Given the description of an element on the screen output the (x, y) to click on. 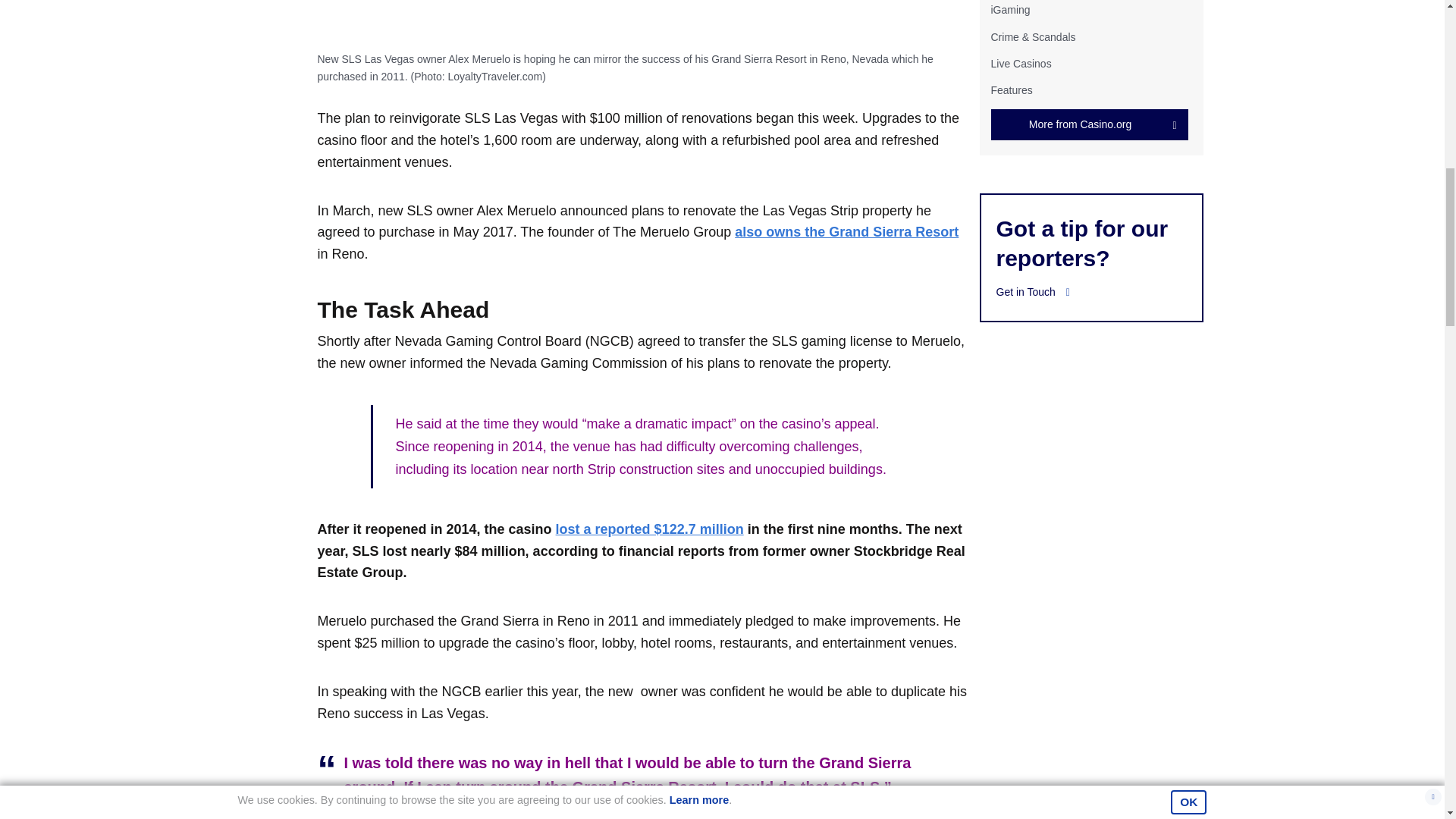
Features (1011, 90)
also owns the Grand Sierra Resort (846, 231)
Live Casinos (1020, 63)
iGaming (1009, 9)
